Given the description of an element on the screen output the (x, y) to click on. 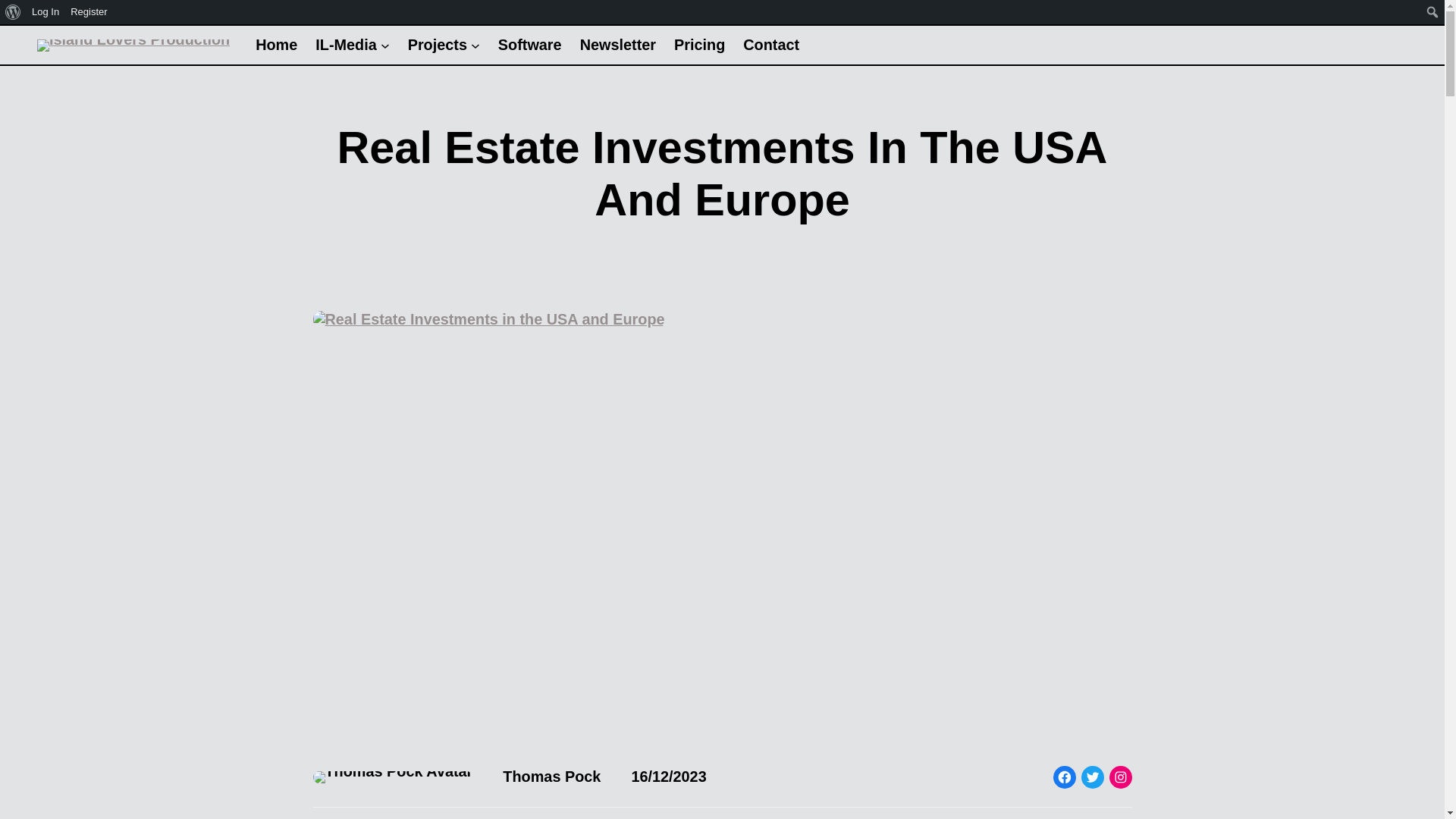
Projects (437, 45)
Home (276, 45)
Search (16, 13)
Contact (770, 45)
Facebook (1063, 776)
Register (89, 12)
Log In (45, 12)
Twitter (1092, 776)
Newsletter (617, 45)
Pricing (699, 45)
